Given the description of an element on the screen output the (x, y) to click on. 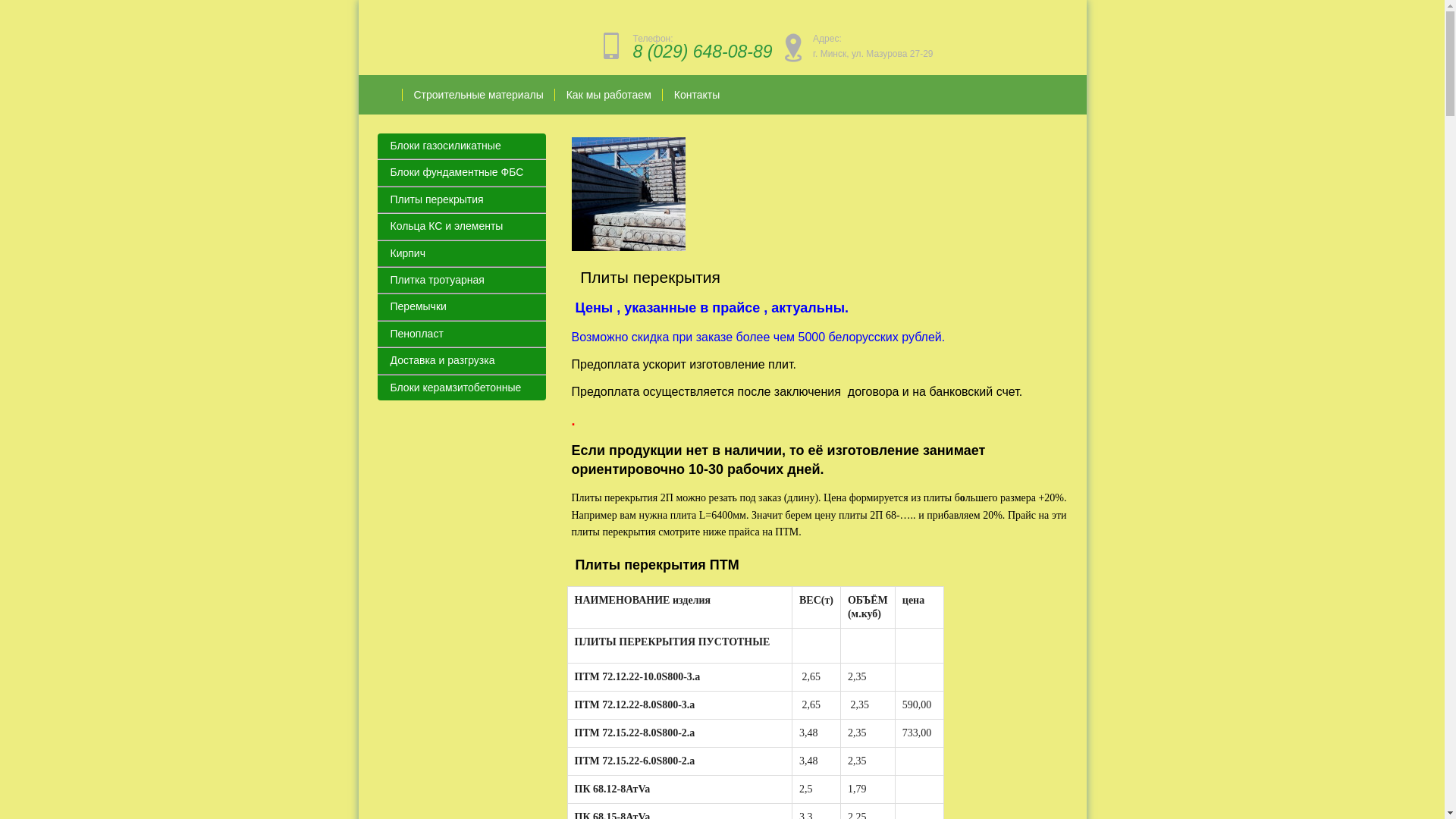
8 (029) 648-08-89 Element type: text (701, 51)
